Given the description of an element on the screen output the (x, y) to click on. 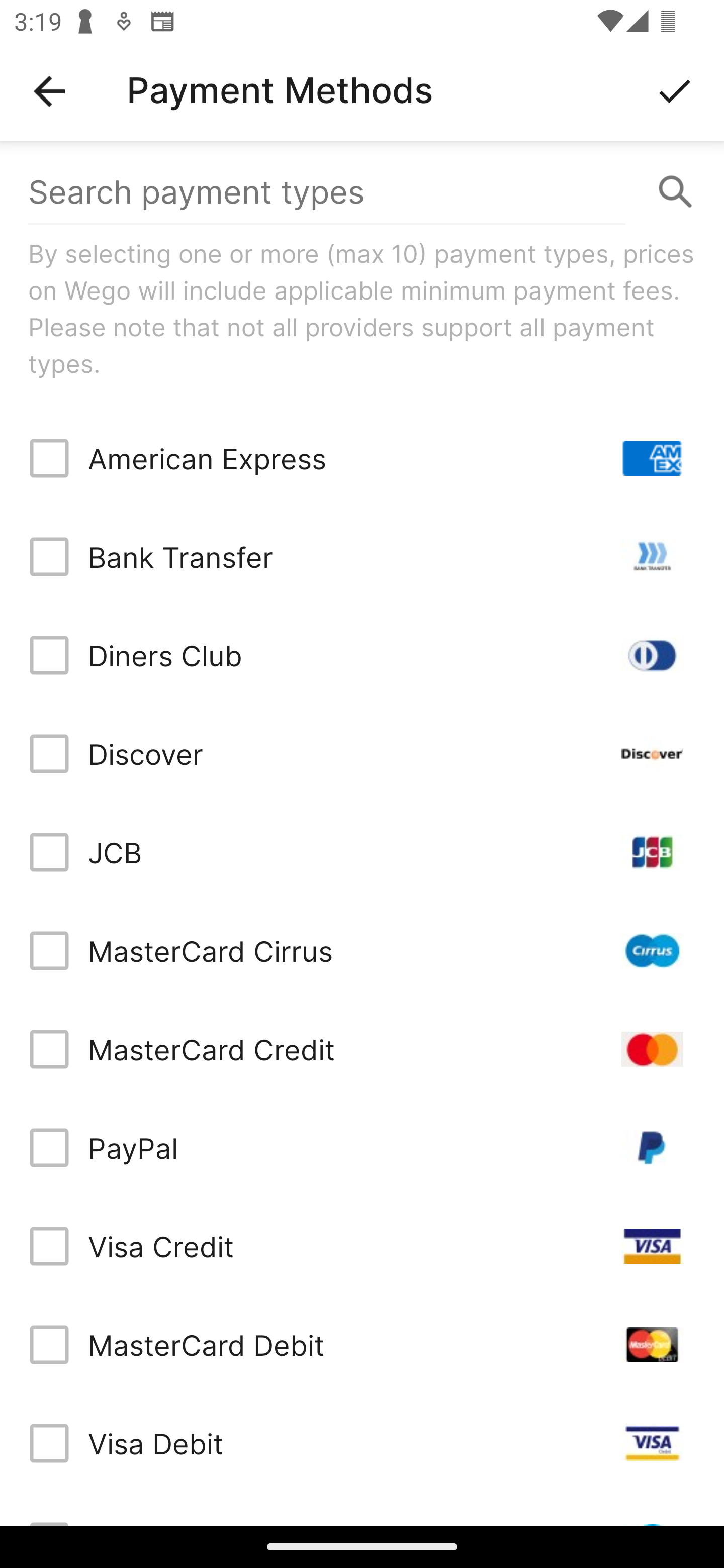
Search payment types  (361, 191)
American Express (362, 458)
Bank Transfer (362, 557)
Diners Club (362, 655)
Discover (362, 753)
JCB (362, 851)
MasterCard Cirrus (362, 950)
MasterCard Credit (362, 1049)
PayPal (362, 1147)
Visa Credit (362, 1245)
MasterCard Debit (362, 1344)
Visa Debit (362, 1442)
